Given the description of an element on the screen output the (x, y) to click on. 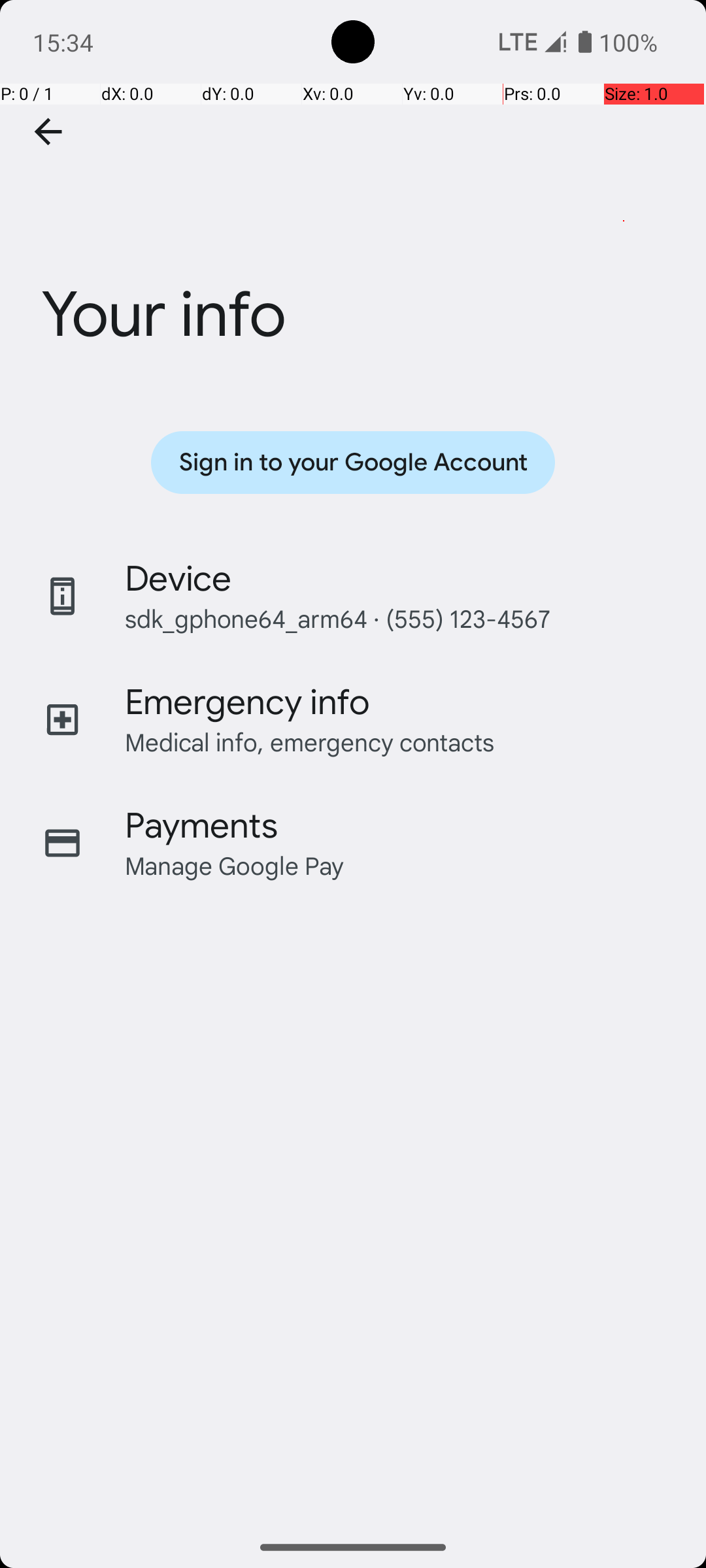
Sign in to your Google Account Element type: android.widget.Button (352, 462)
sdk_gphone64_arm64 · (555) 123-4567 Element type: android.widget.TextView (337, 618)
Emergency info Element type: android.widget.TextView (246, 702)
Medical info, emergency contacts Element type: android.widget.TextView (309, 741)
Payments Element type: android.widget.TextView (200, 825)
Manage Google Pay Element type: android.widget.TextView (234, 865)
